Given the description of an element on the screen output the (x, y) to click on. 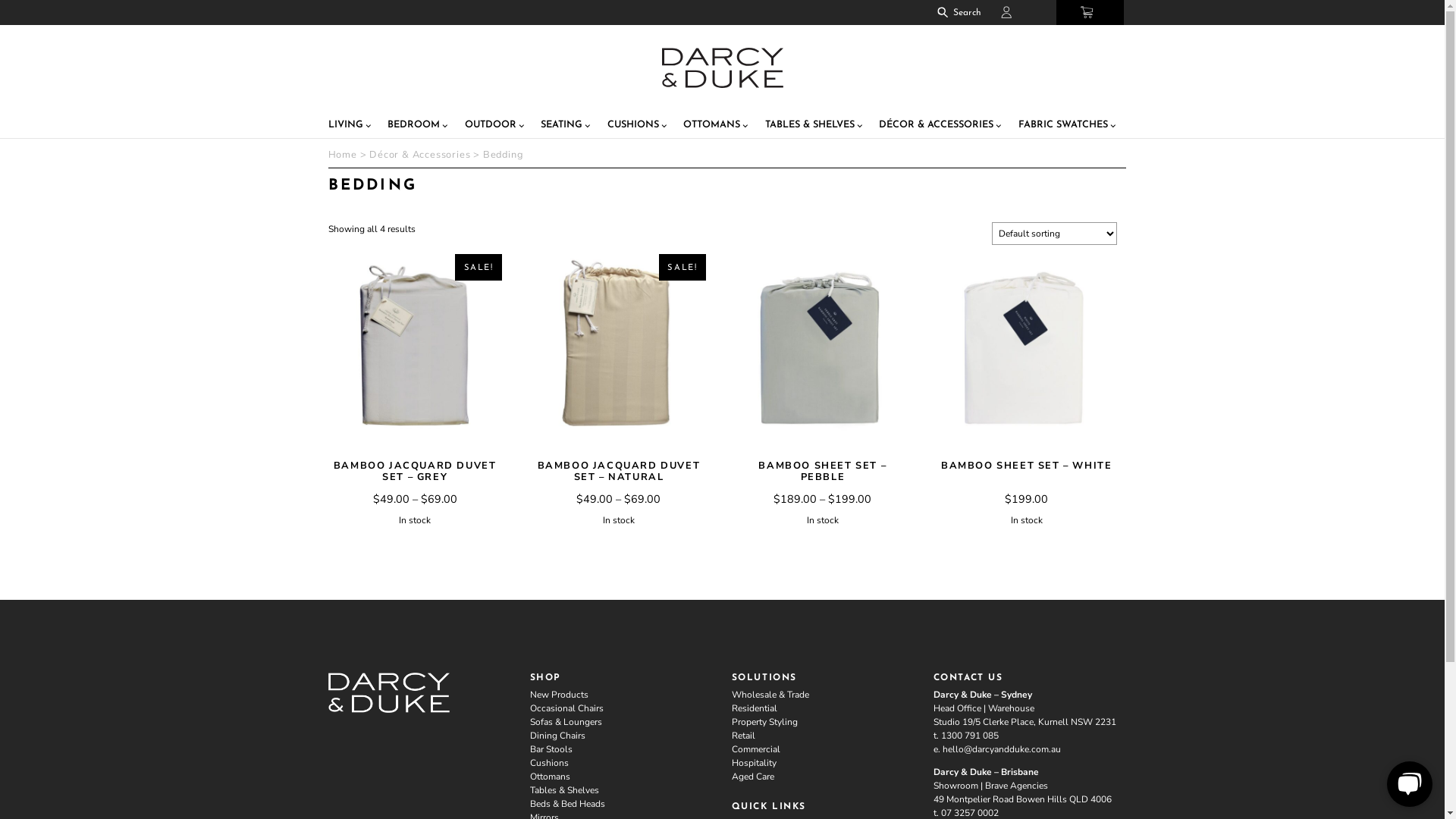
Log In Element type: text (1273, 15)
FABRIC SWATCHES Element type: text (1333, 158)
LIVING Element type: text (437, 158)
OTTOMANS Element type: text (894, 158)
Search Element type: text (1196, 15)
CUSHIONS Element type: text (796, 158)
TABLES & SHELVES Element type: text (1017, 158)
OUTDOOR Element type: text (618, 158)
BEDROOM Element type: text (522, 158)
SEATING Element type: text (707, 158)
Home Element type: text (428, 193)
View cart (0 items) Element type: hover (1363, 15)
